Given the description of an element on the screen output the (x, y) to click on. 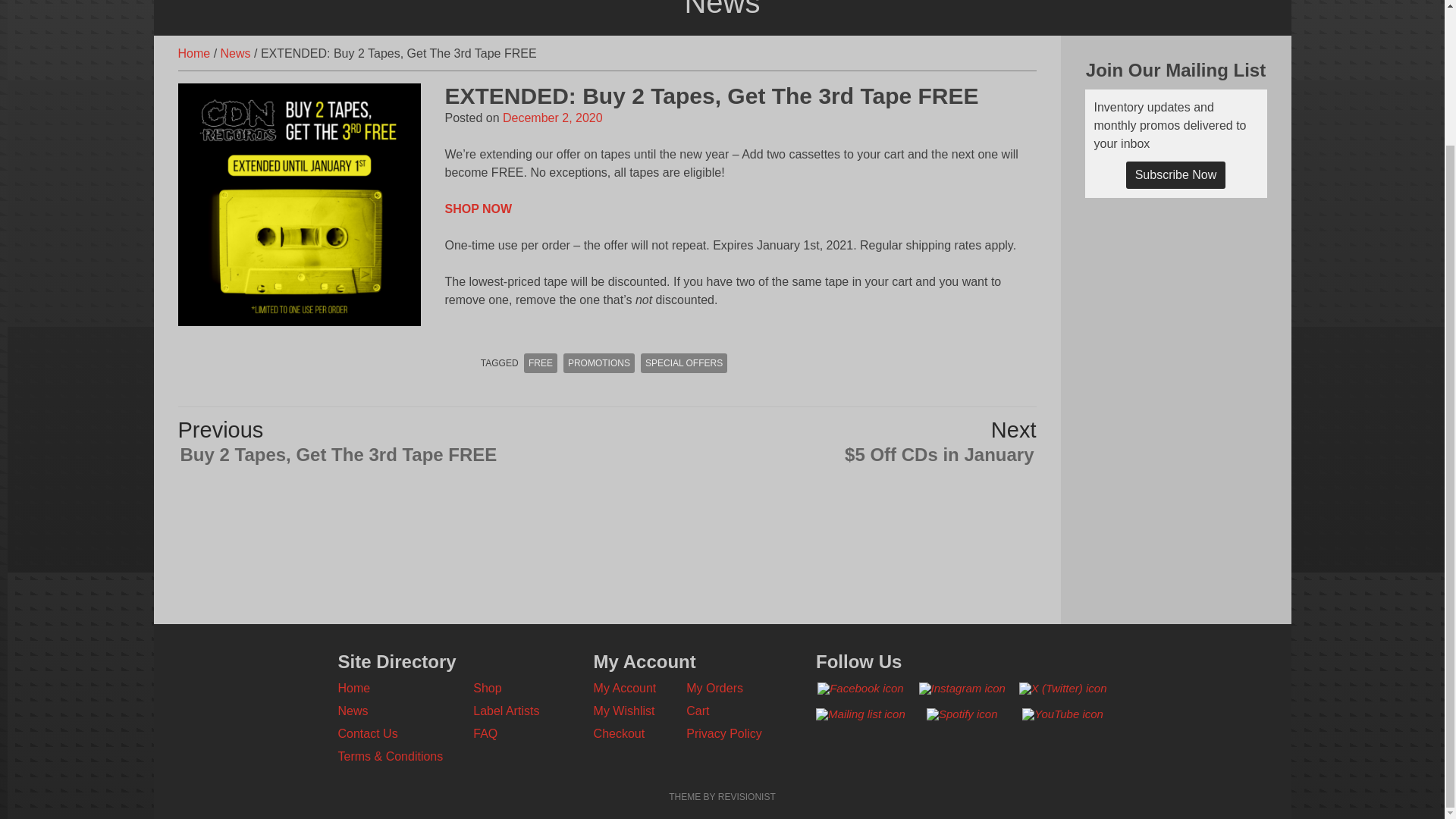
Instagram (962, 688)
Checkout (619, 733)
My Account (625, 687)
Contact Us (367, 733)
Cart (697, 710)
December 2, 2020 (552, 117)
Privacy Policy (723, 733)
My Wishlist (624, 710)
PROMOTIONS (598, 362)
FREE (540, 362)
